Given the description of an element on the screen output the (x, y) to click on. 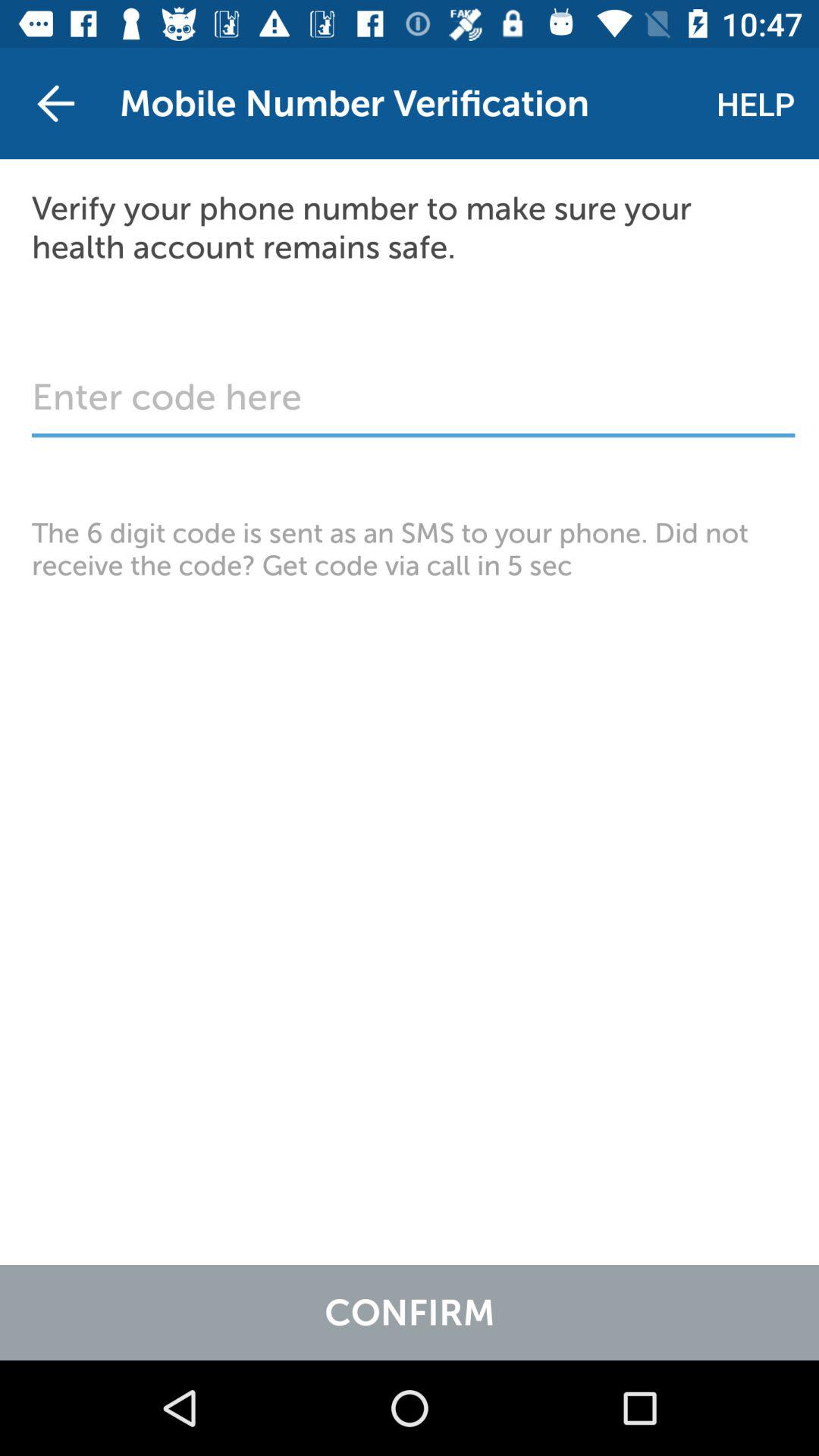
turn off icon above verify your phone icon (755, 103)
